Given the description of an element on the screen output the (x, y) to click on. 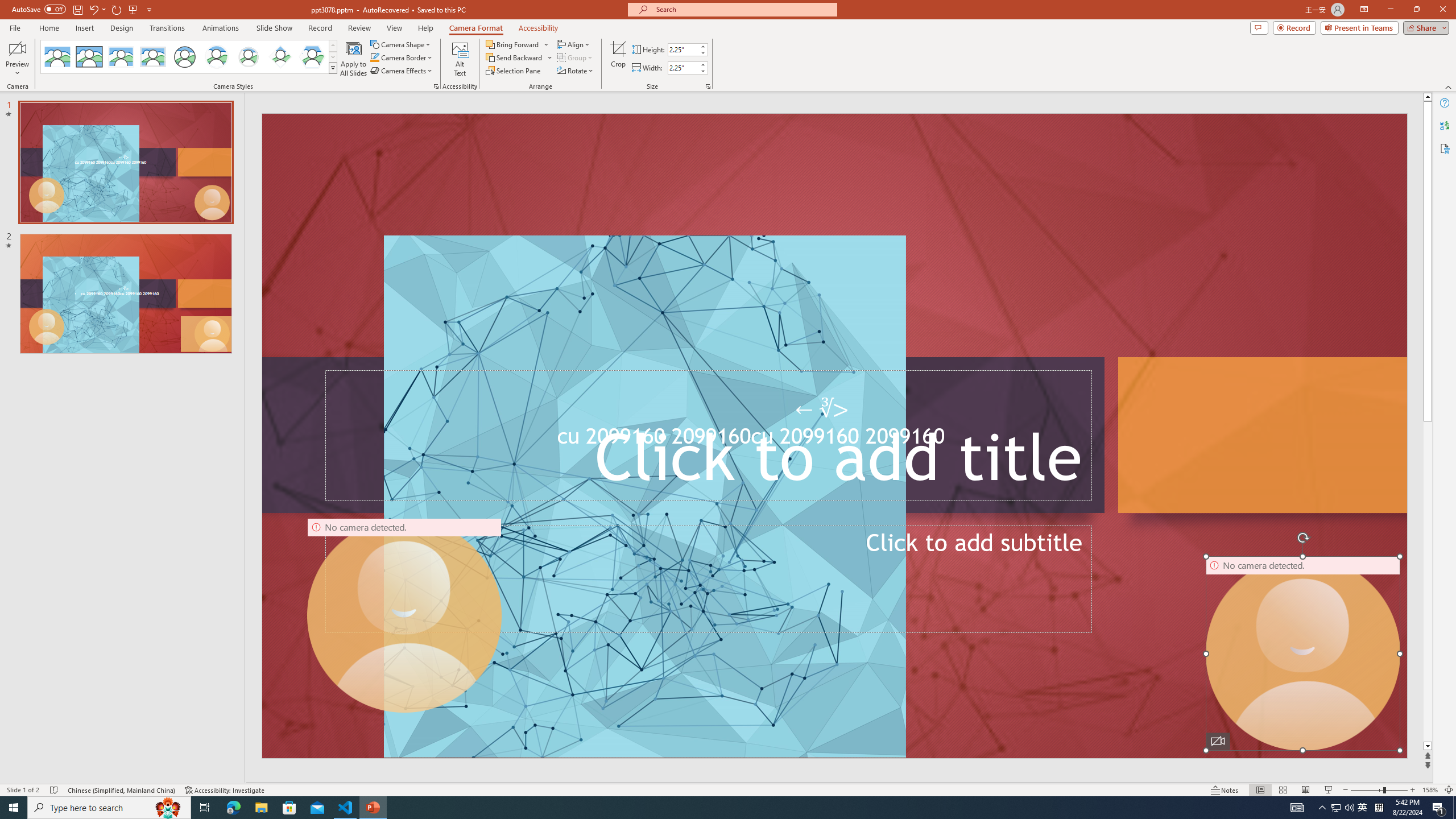
Group (575, 56)
Center Shadow Circle (216, 56)
Simple Frame Circle (184, 56)
Cameo Width (682, 67)
Camera Format (475, 28)
TextBox 61 (832, 438)
Rotate (575, 69)
